Given the description of an element on the screen output the (x, y) to click on. 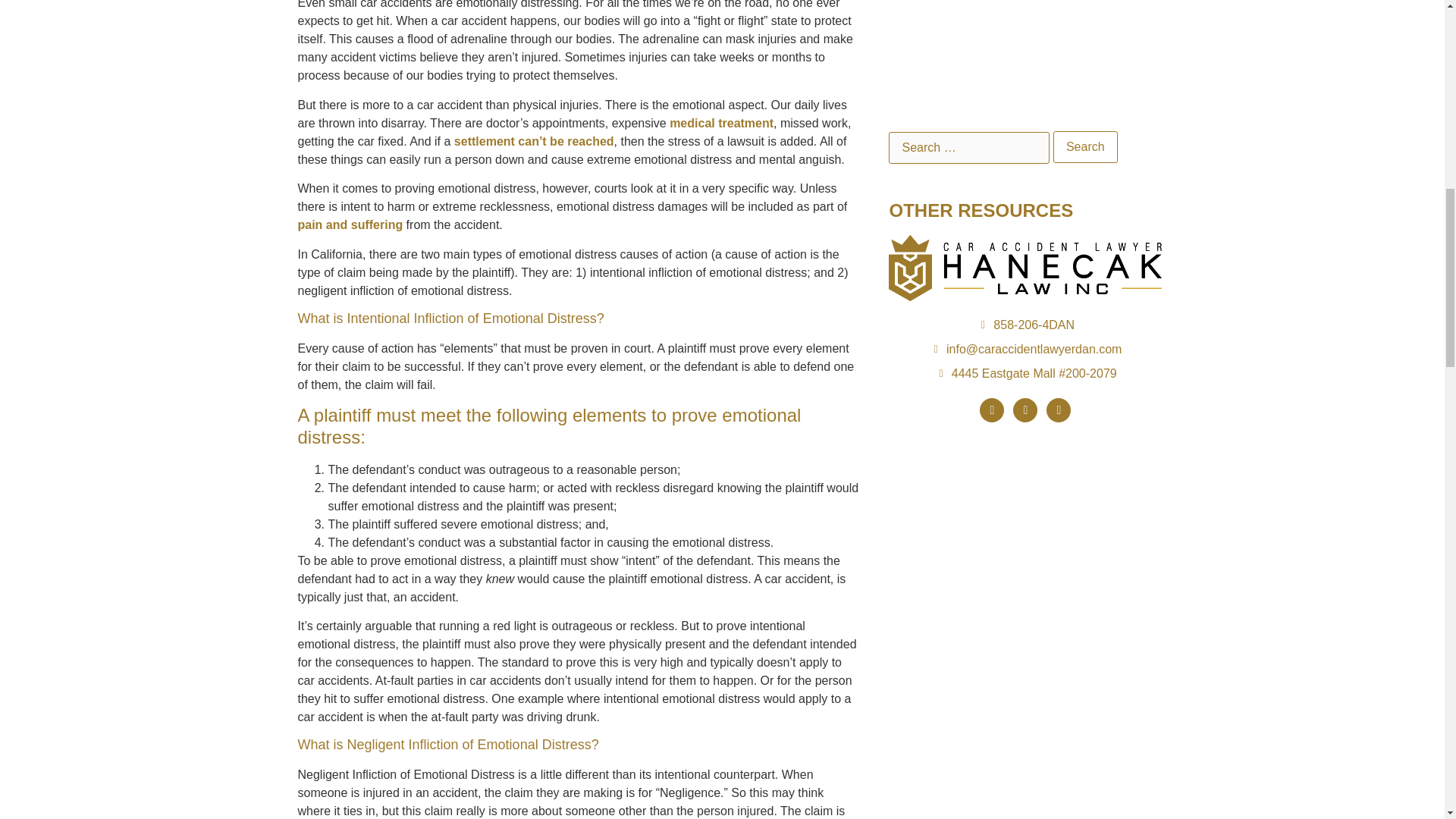
Search (1085, 146)
Search (1085, 146)
